Given the description of an element on the screen output the (x, y) to click on. 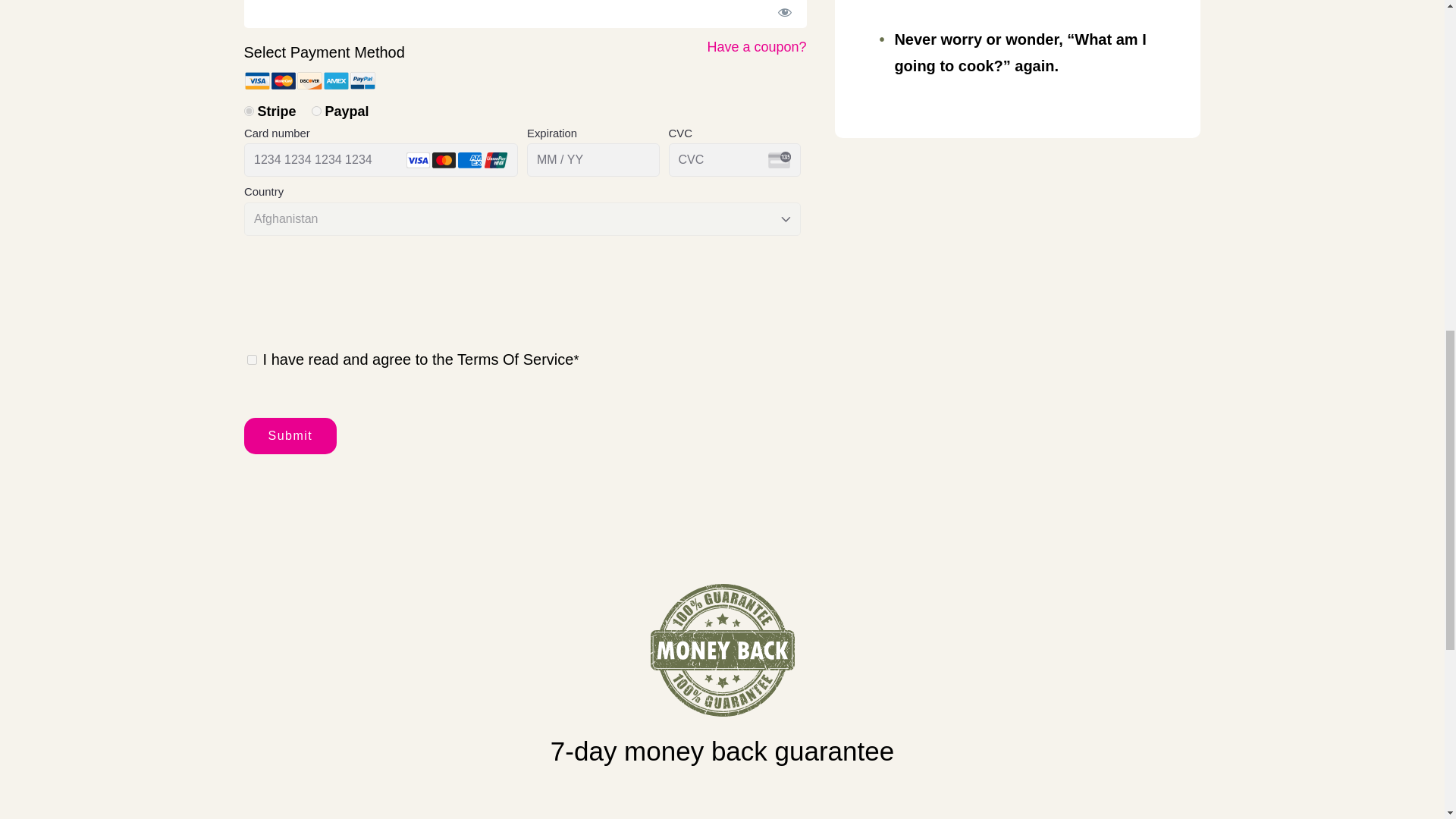
Have a coupon? (756, 47)
on (252, 359)
I have read and agree to the Terms Of Service (418, 358)
Submit (290, 435)
Submit (290, 435)
phkscf-6fp (316, 111)
pgpbdo-260 (248, 111)
Secure payment input frame (522, 229)
